Given the description of an element on the screen output the (x, y) to click on. 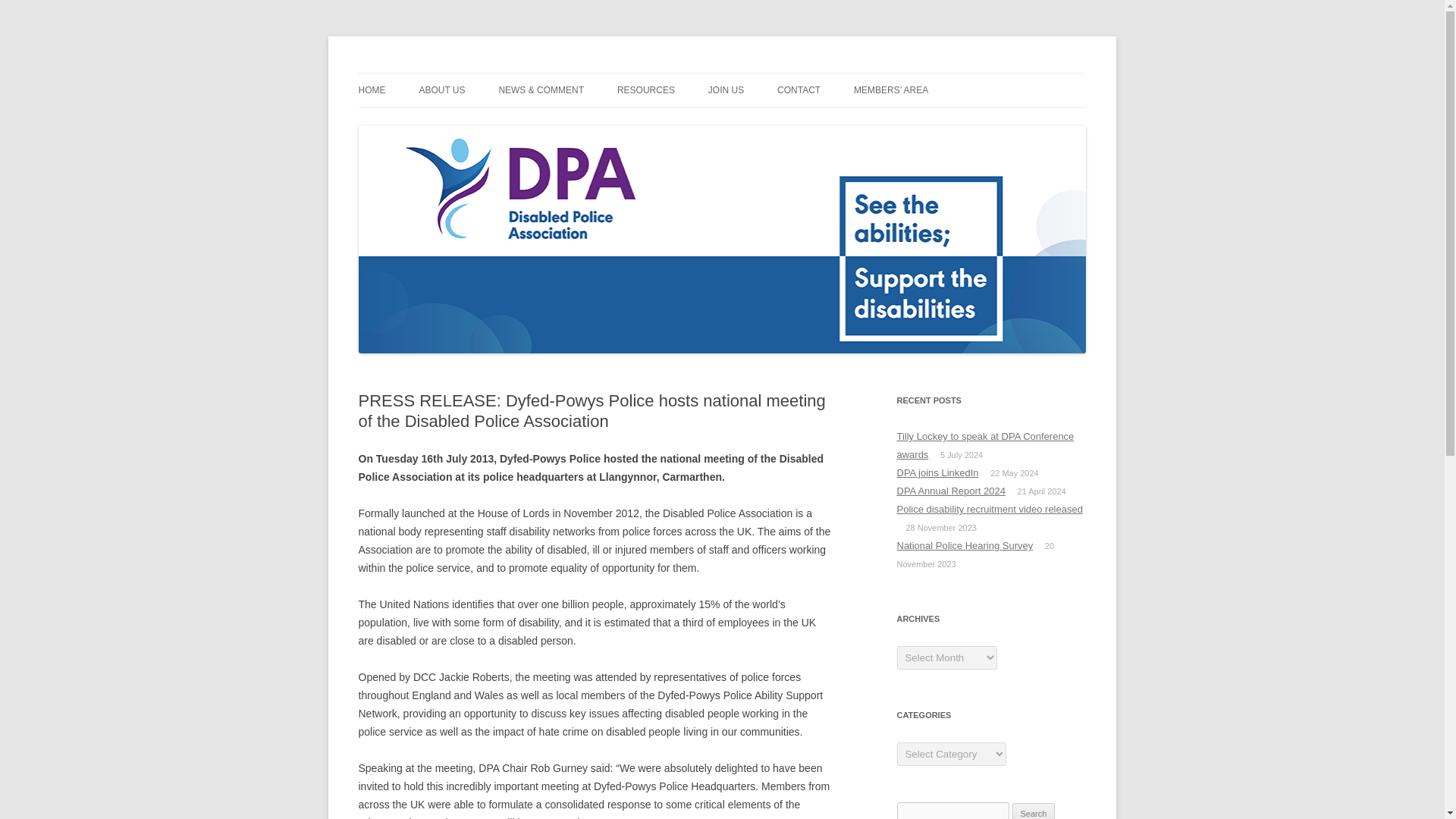
DPA joins LinkedIn (937, 472)
12 POINT ACTION PLAN (494, 122)
JOIN US (725, 90)
FAQ (692, 122)
Tilly Lockey to speak at DPA Conference awards (985, 445)
HOME (371, 90)
Search (1033, 811)
ABOUT US (441, 90)
National Police Hearing Survey (964, 545)
Search (1033, 811)
Police disability recruitment video released (988, 509)
CONTACT (799, 90)
DPA Annual Report 2024 (950, 490)
RESOURCES (646, 90)
